Given the description of an element on the screen output the (x, y) to click on. 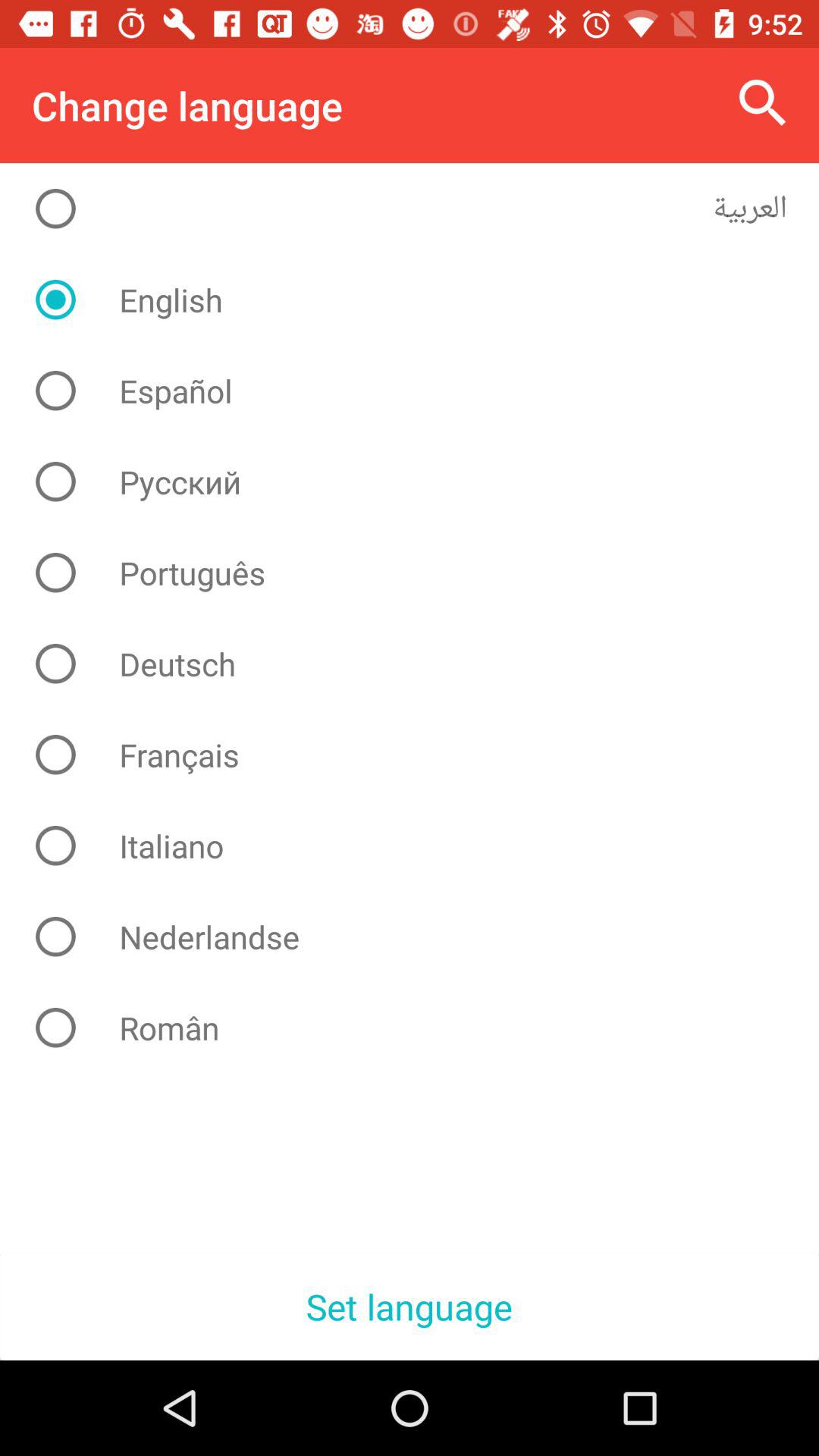
jump until deutsch icon (421, 663)
